Given the description of an element on the screen output the (x, y) to click on. 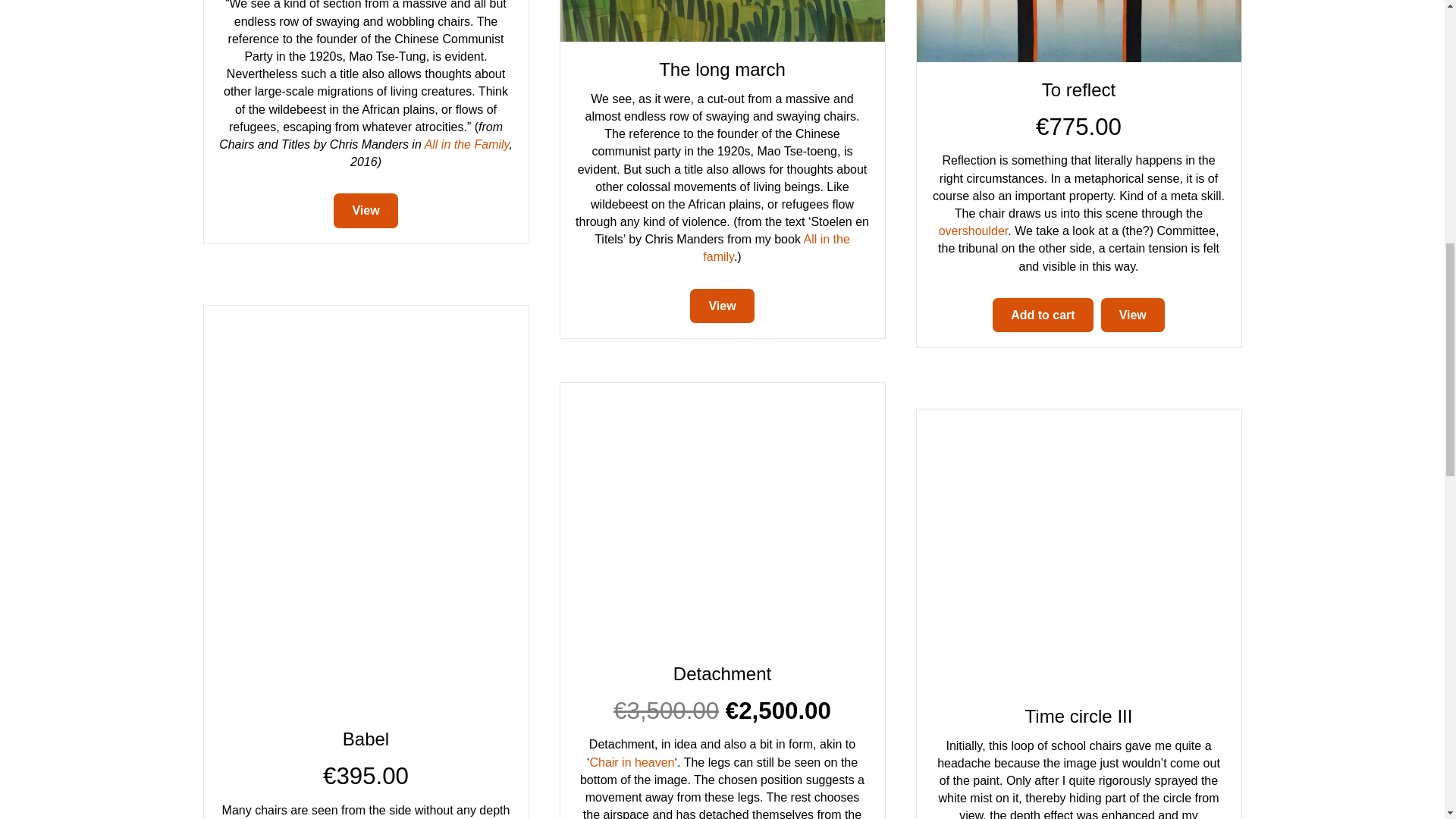
View (722, 306)
Add to cart (1042, 315)
Detachment (721, 673)
Detachment (721, 513)
Babel (365, 738)
View (1132, 315)
Chair in heaven (631, 762)
View (722, 306)
View (365, 210)
The long march (722, 68)
To reflect (1078, 89)
View (1132, 315)
overshoulder (974, 230)
All in the family (776, 247)
All in the Family (467, 144)
